Given the description of an element on the screen output the (x, y) to click on. 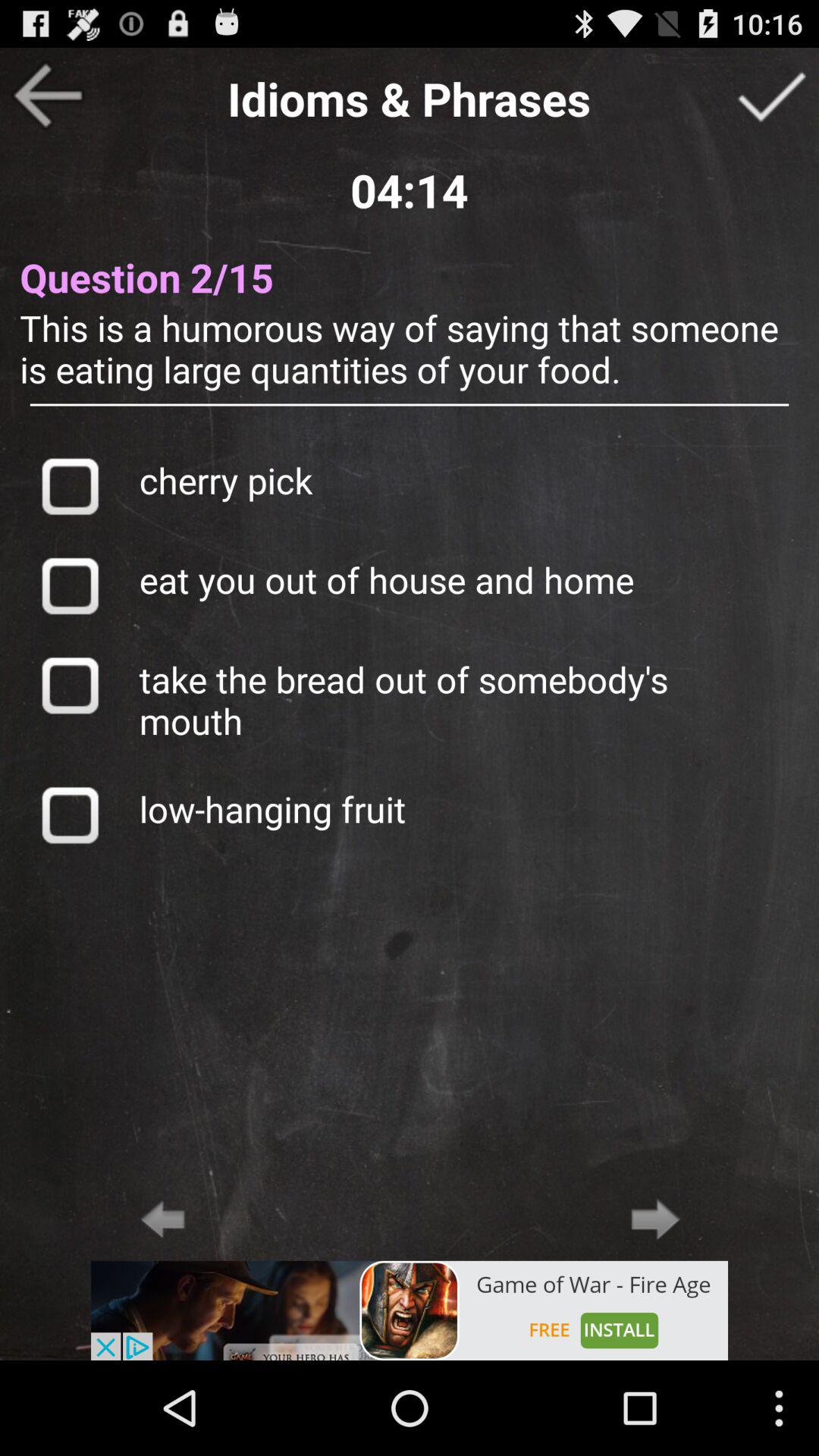
go back (162, 1218)
